Given the description of an element on the screen output the (x, y) to click on. 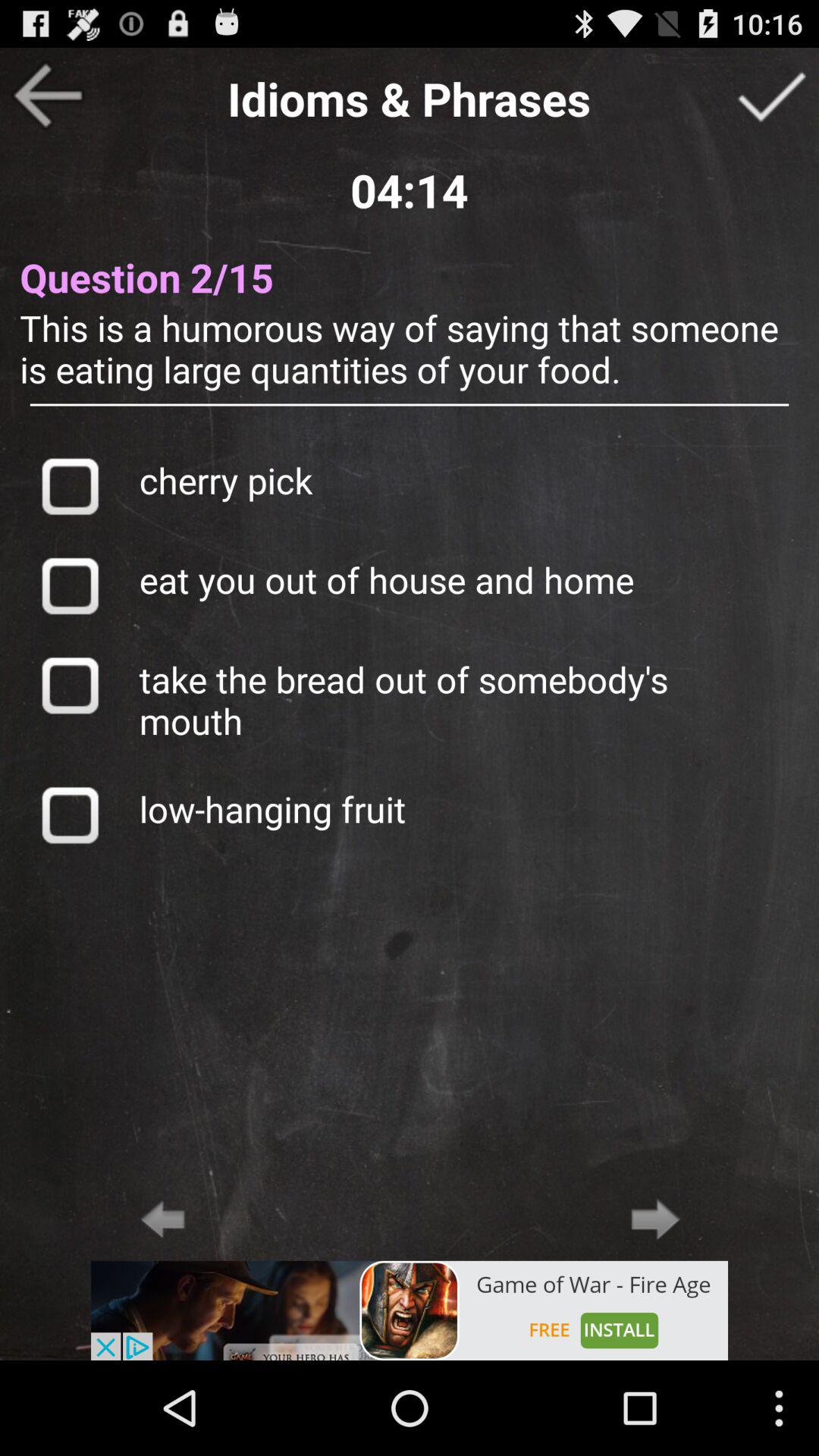
go back (162, 1218)
